Given the description of an element on the screen output the (x, y) to click on. 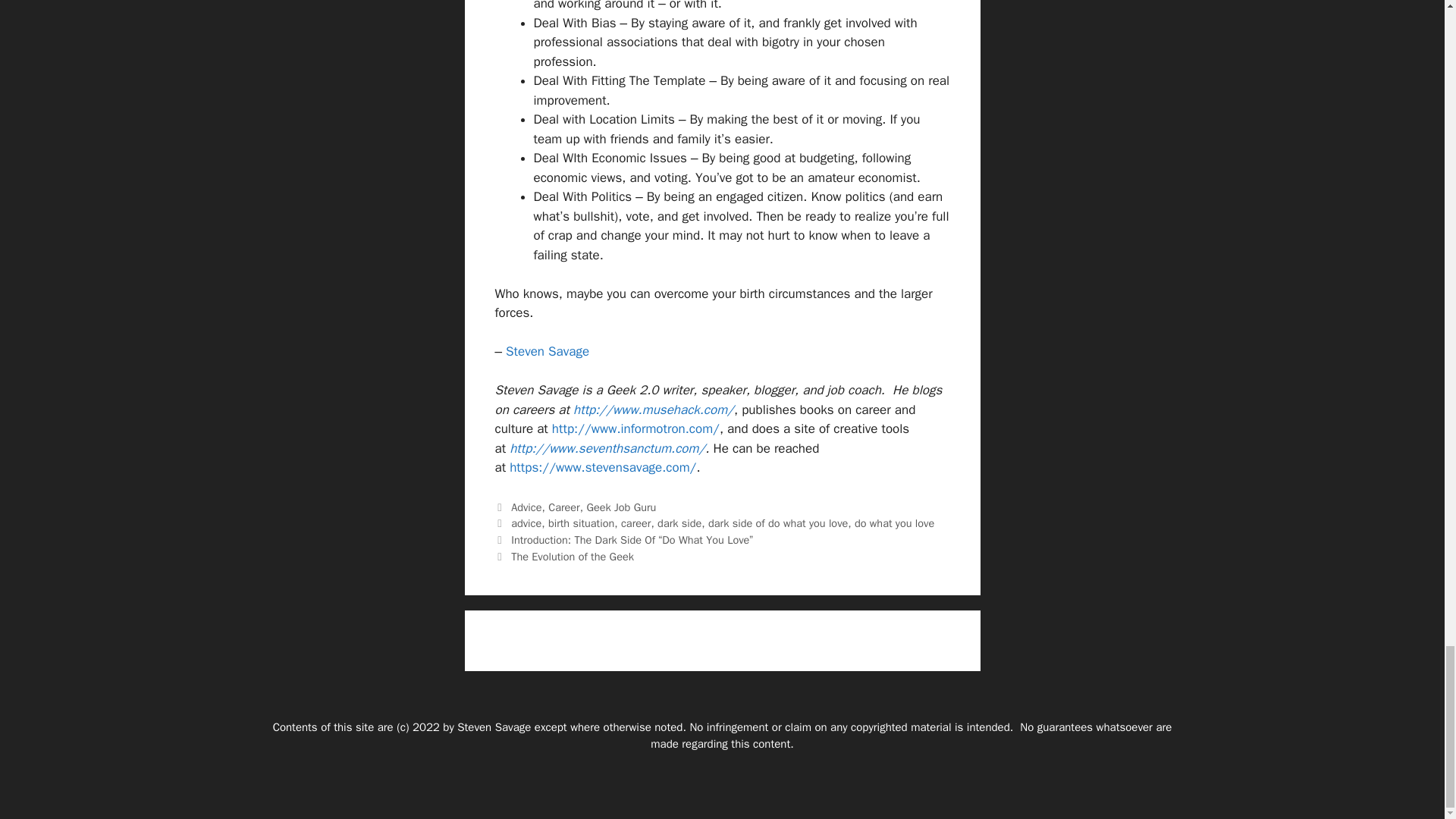
advice (526, 522)
Geek Job Guru (621, 507)
Career (563, 507)
birth situation (581, 522)
Steven Savage (547, 351)
dark side of do what you love (777, 522)
The Evolution of the Geek (572, 556)
dark side (679, 522)
do what you love (894, 522)
career (635, 522)
